Given the description of an element on the screen output the (x, y) to click on. 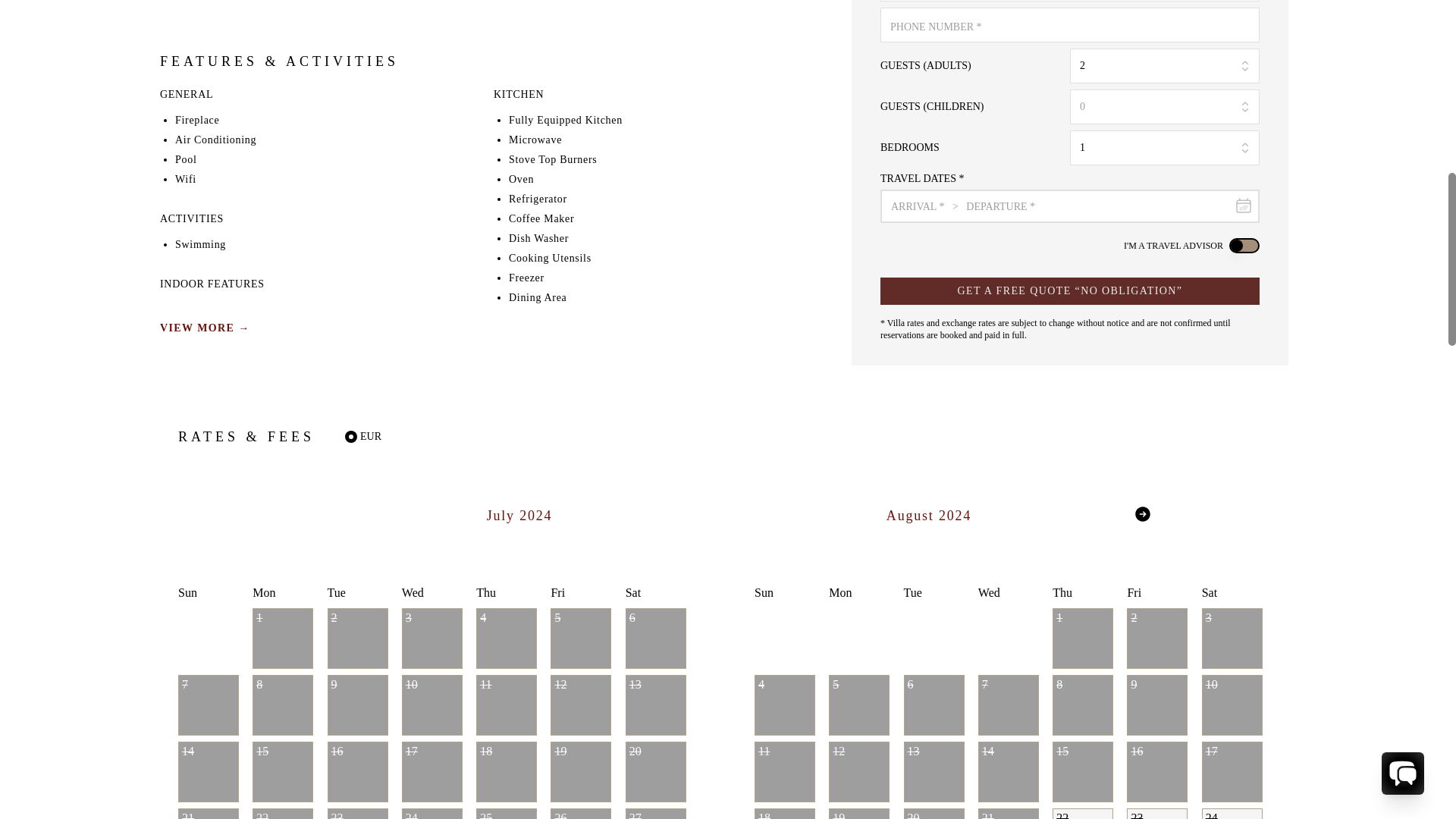
0 (1164, 106)
1 (1164, 147)
2 (1164, 65)
Use setting (1243, 245)
on (350, 436)
